Given the description of an element on the screen output the (x, y) to click on. 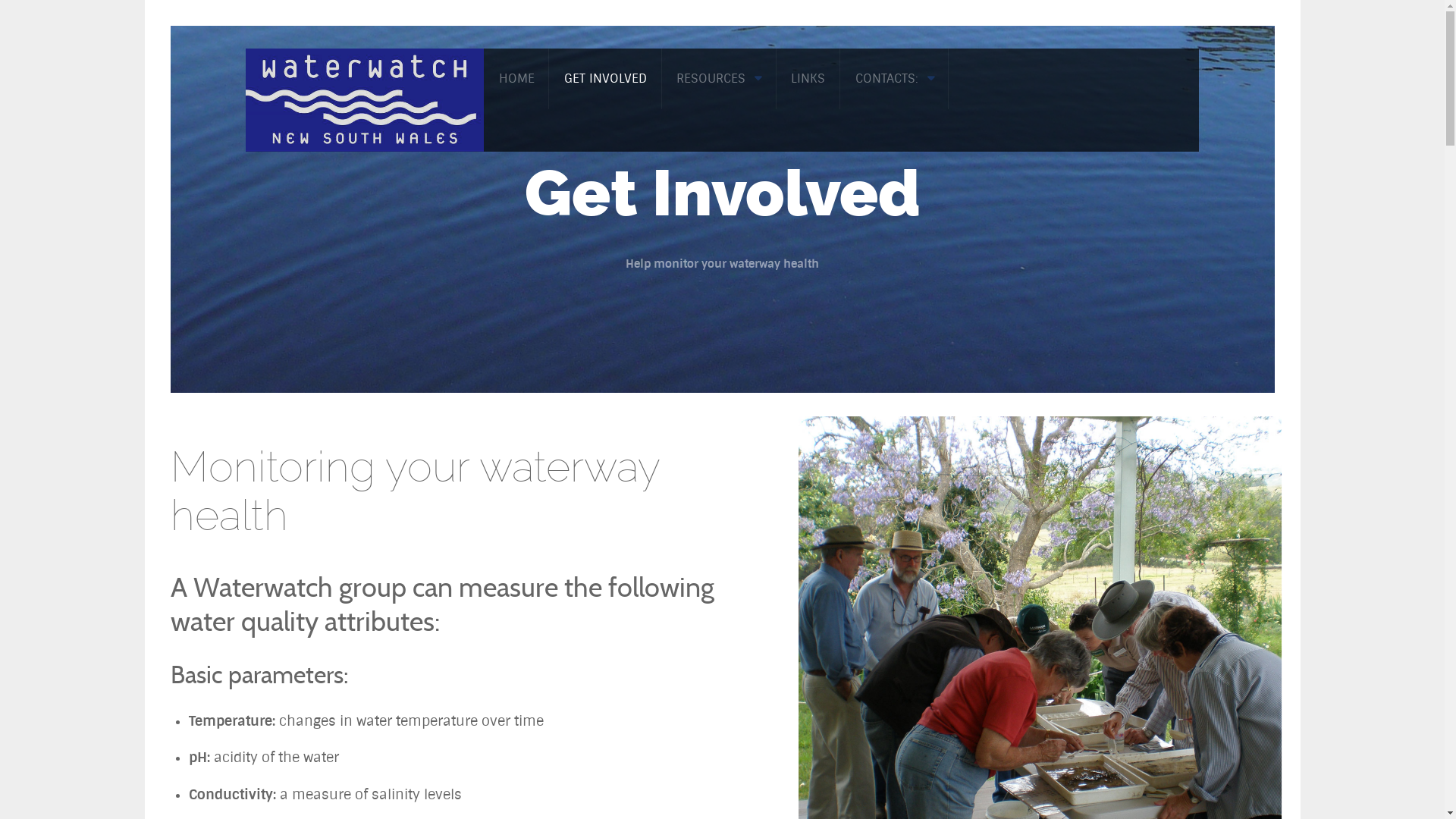
CONTACTS: Element type: text (894, 78)
NSW Waterwatch Element type: hover (364, 99)
GET INVOLVED Element type: text (605, 78)
LINKS Element type: text (808, 78)
HOME Element type: text (516, 78)
RESOURCES Element type: text (719, 78)
